Given the description of an element on the screen output the (x, y) to click on. 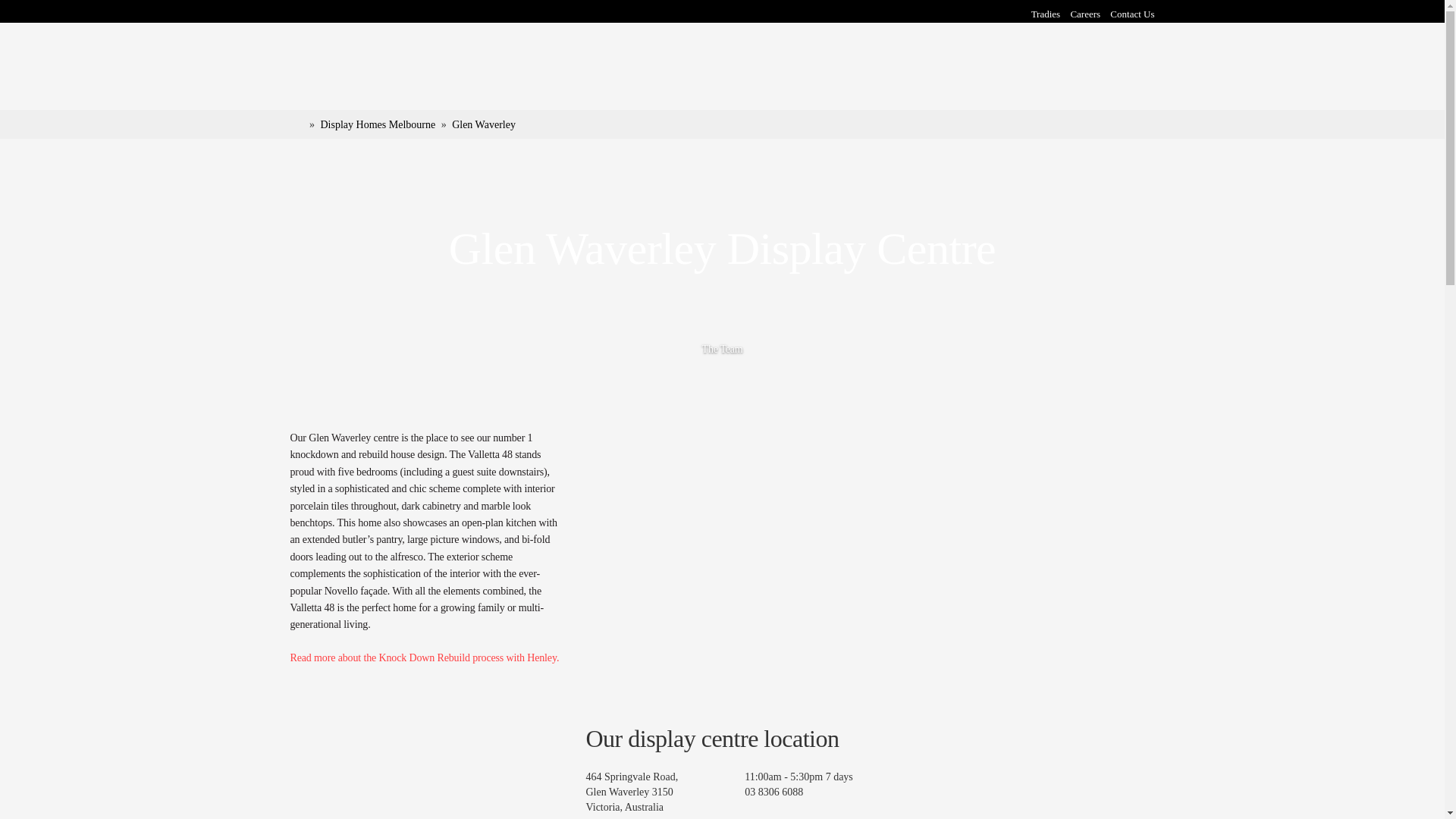
The Team (721, 348)
Careers (1085, 13)
Tradies (1045, 13)
Contact Us (1131, 13)
